Given the description of an element on the screen output the (x, y) to click on. 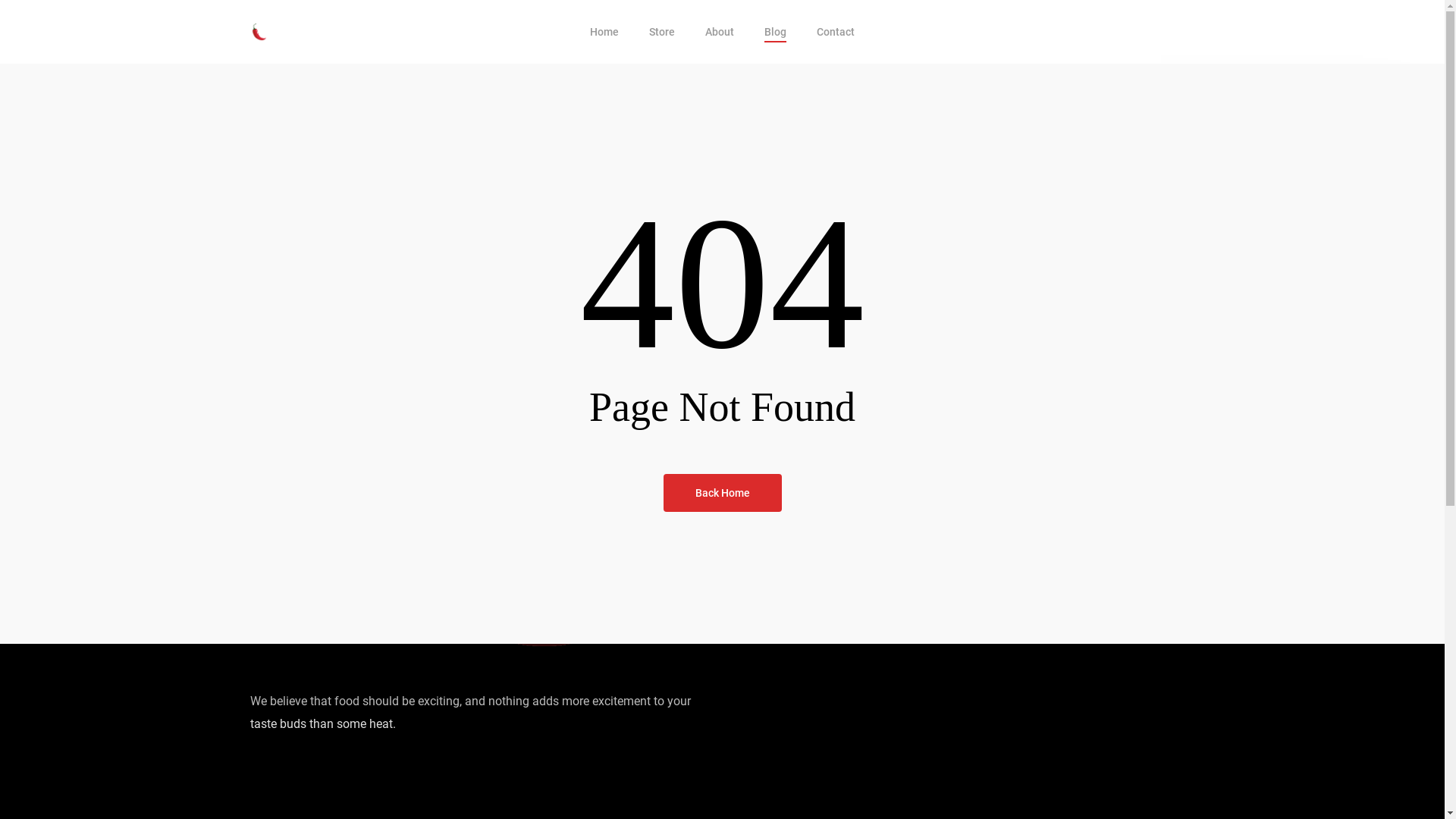
Contact Element type: text (962, 368)
Blog Element type: text (962, 340)
Back Home Element type: text (721, 492)
Dalton Catering QLD Element type: text (786, 452)
Home Element type: text (603, 31)
Store Element type: text (962, 282)
Contact Element type: text (835, 31)
Store Element type: text (661, 31)
Home Element type: text (962, 253)
About Element type: text (962, 311)
Blog Element type: text (775, 31)
About Element type: text (719, 31)
